Given the description of an element on the screen output the (x, y) to click on. 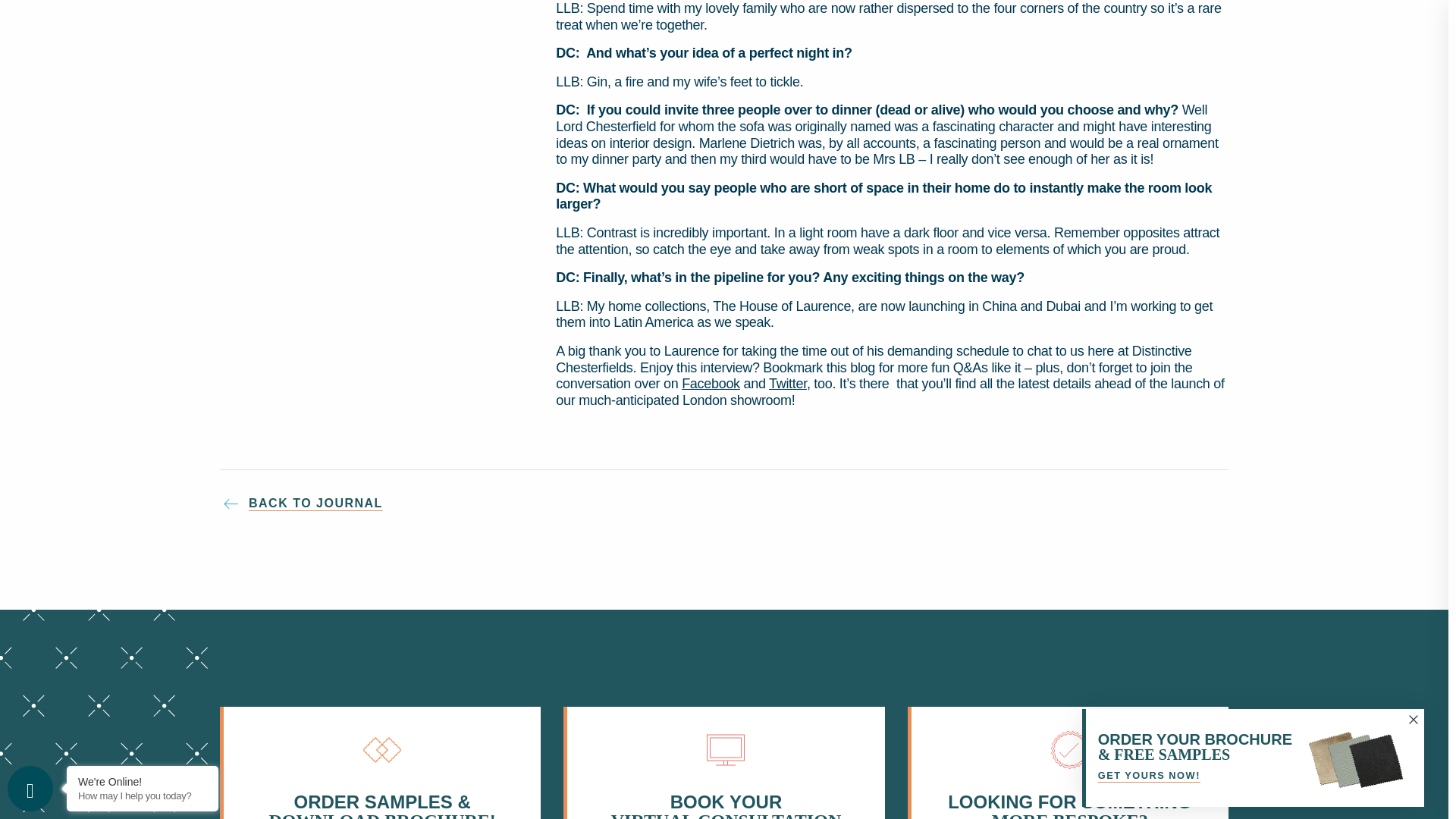
Book a FREE Consultation Call (723, 762)
Back to Posts Archive (723, 503)
